Given the description of an element on the screen output the (x, y) to click on. 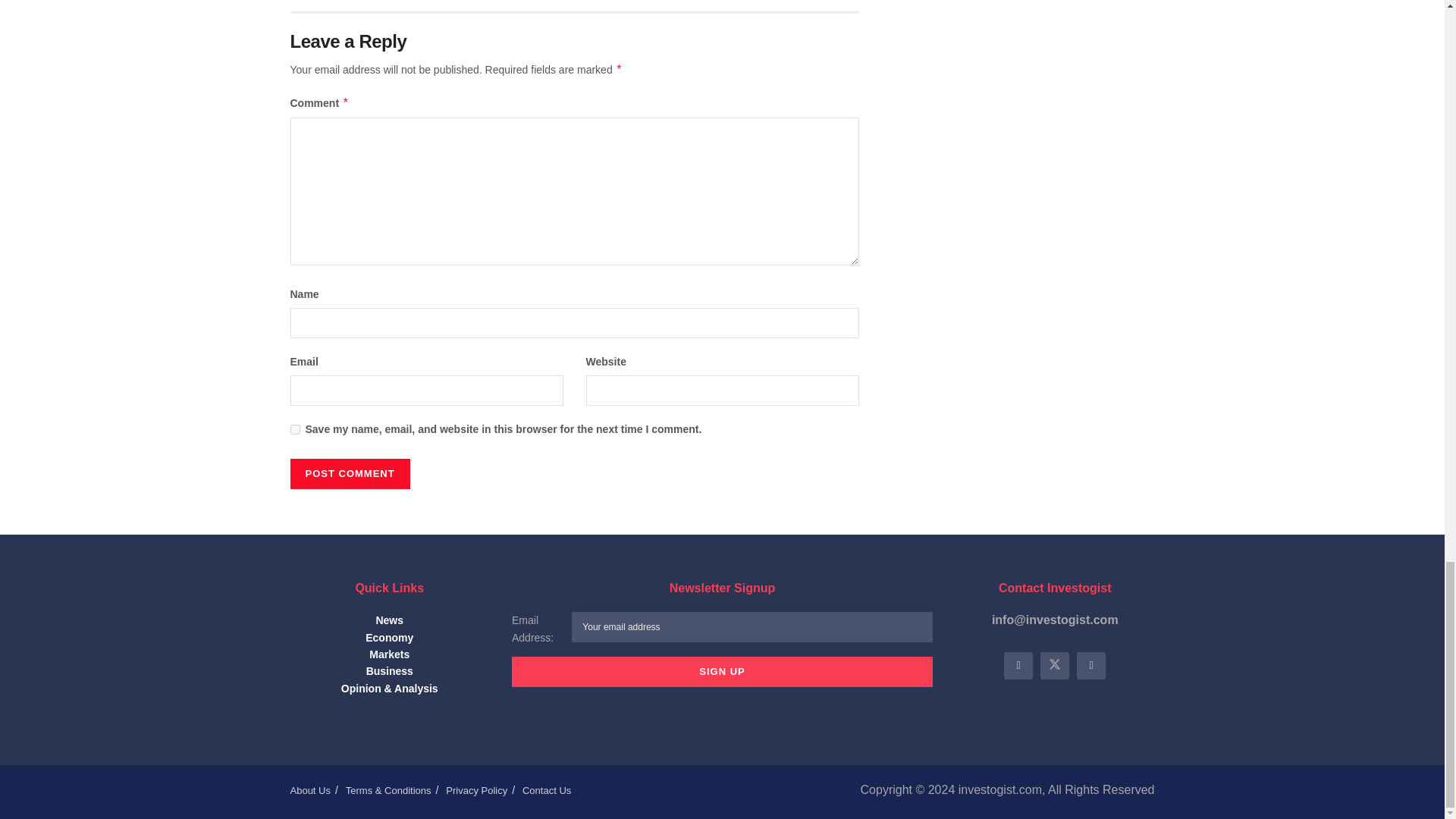
Post Comment (349, 473)
Sign up (722, 671)
yes (294, 429)
